Given the description of an element on the screen output the (x, y) to click on. 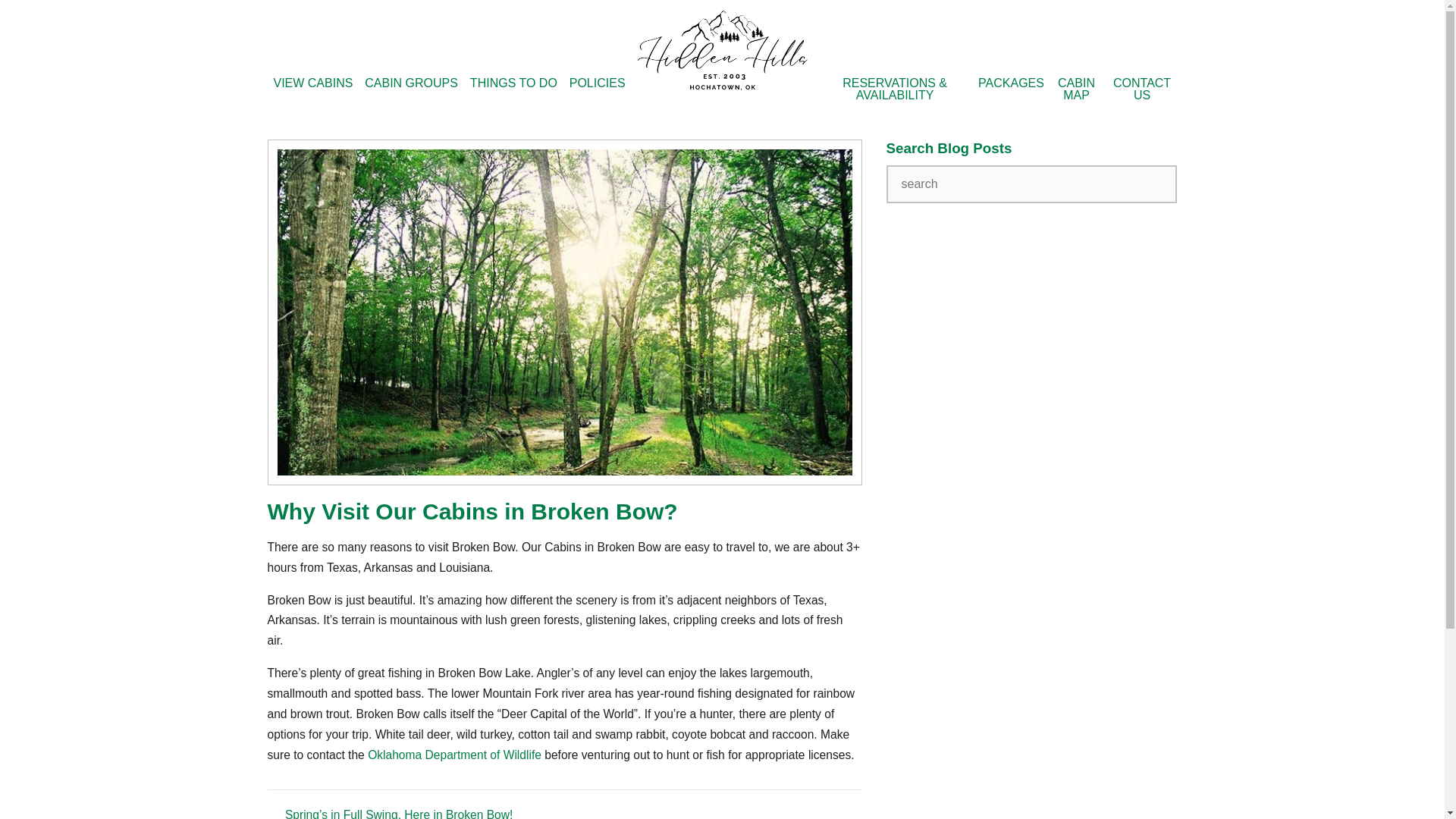
Hidden Hills Cabins (721, 85)
THINGS TO DO (513, 83)
VIEW CABINS (312, 83)
Oklahoma Department of Wildlife (454, 754)
CABIN MAP (1075, 89)
CABIN GROUPS (411, 83)
POLICIES (597, 83)
McCurtain County Game Warden (454, 754)
PACKAGES (1011, 83)
CONTACT US (1141, 89)
